Given the description of an element on the screen output the (x, y) to click on. 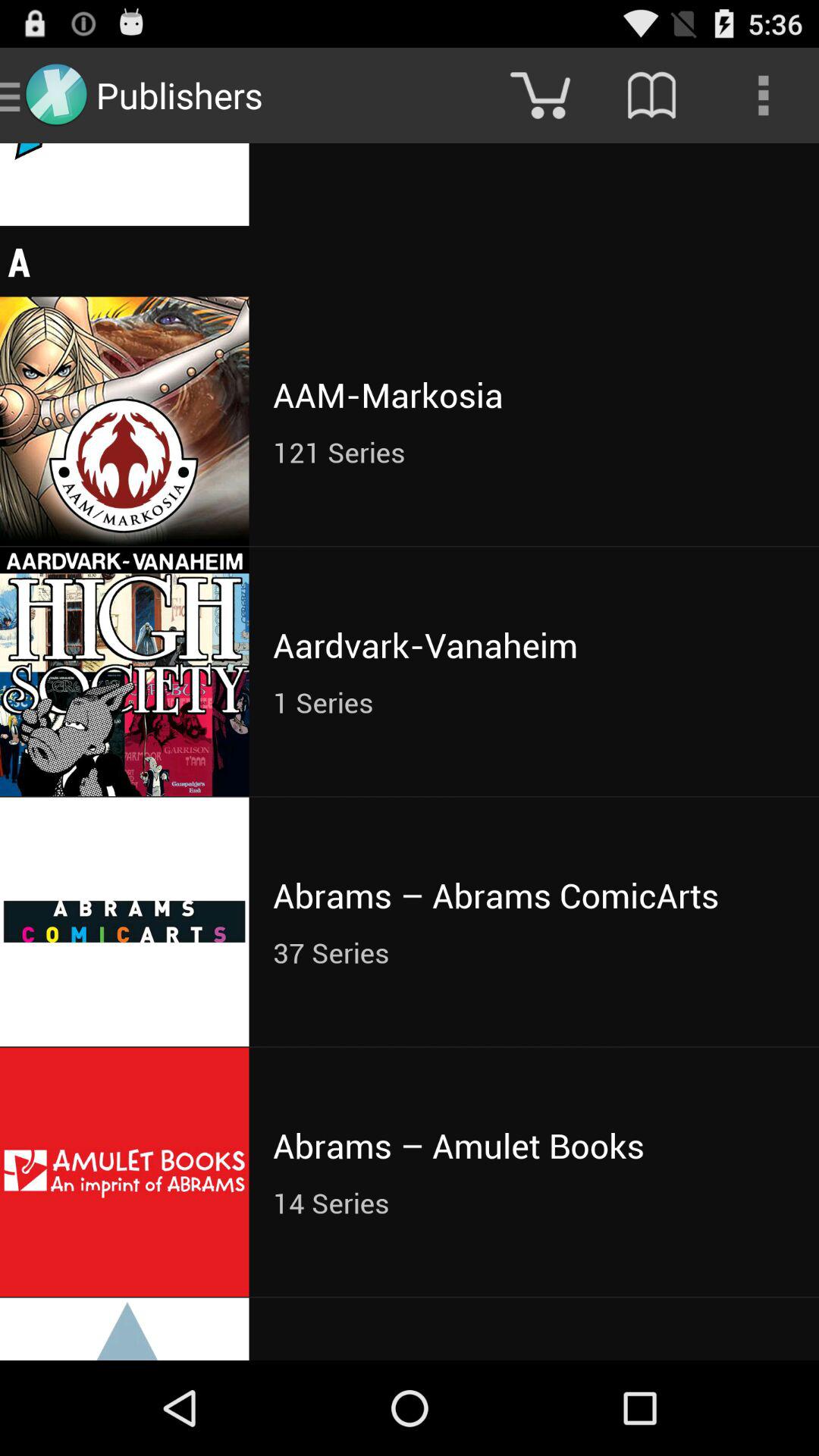
click the item below aardvark-vanaheim (534, 702)
